Given the description of an element on the screen output the (x, y) to click on. 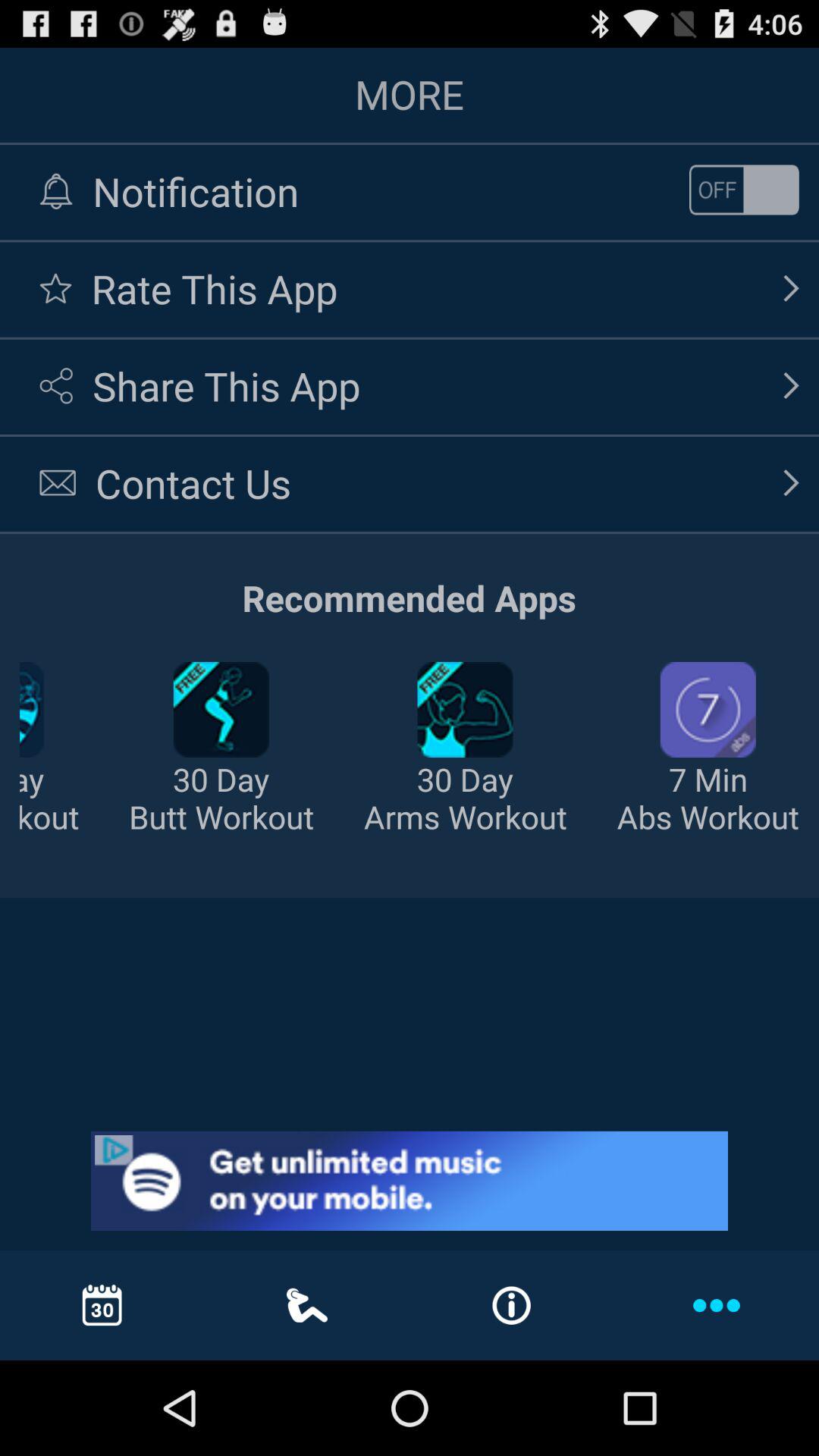
on/off (744, 189)
